Given the description of an element on the screen output the (x, y) to click on. 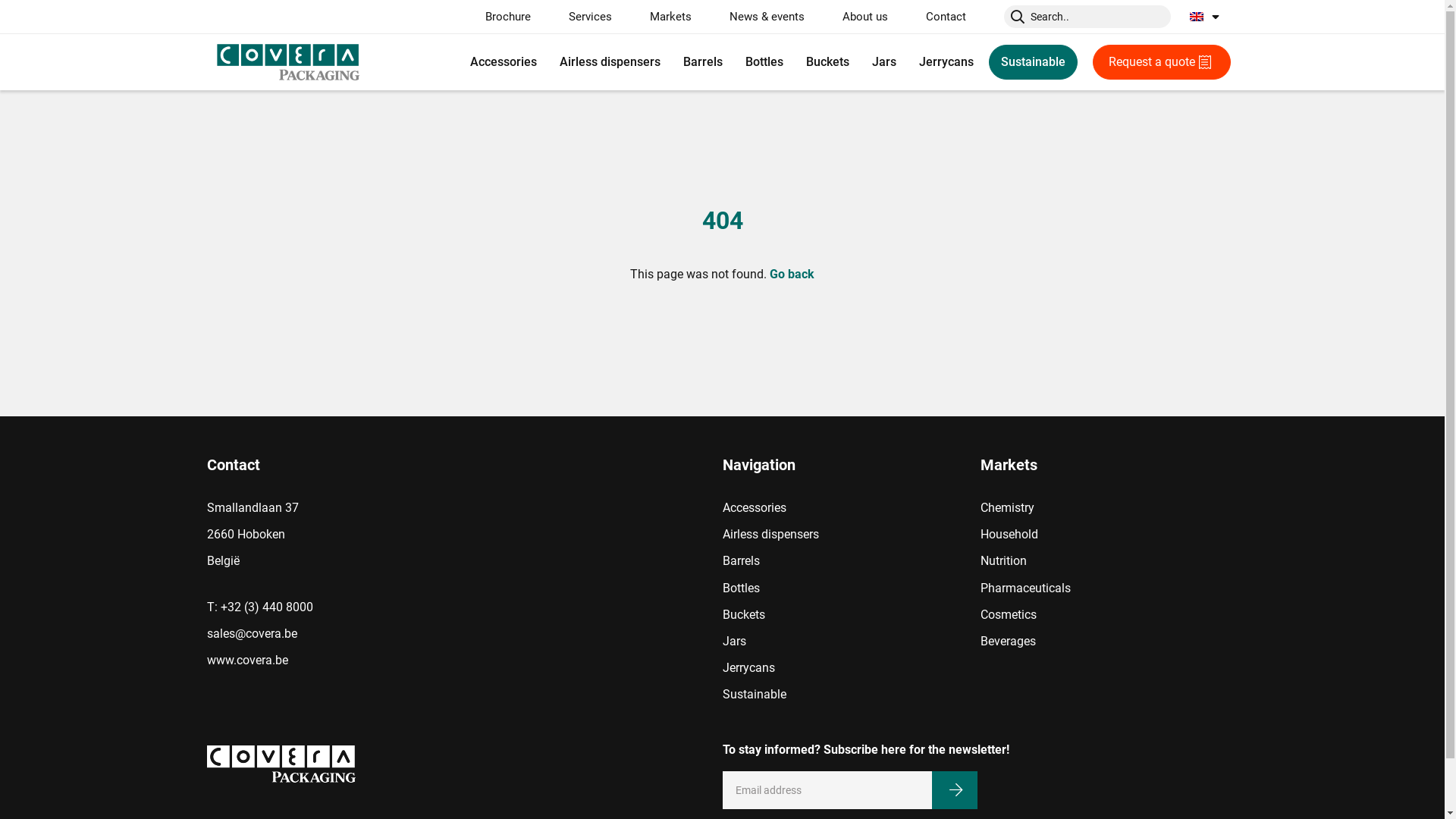
Pharmaceuticals Element type: text (1024, 587)
Jerrycans Element type: text (747, 667)
News & events Element type: text (766, 17)
Chemistry Element type: text (1006, 507)
Accessories Element type: text (502, 61)
Nutrition Element type: text (1002, 560)
About us Element type: text (864, 17)
Brochure Element type: text (507, 17)
Sustainable Element type: text (753, 693)
www.covera.be Element type: text (344, 659)
Go back Element type: text (791, 273)
Buckets Element type: text (827, 61)
Jerrycans Element type: text (945, 61)
Chemistry Element type: text (667, 47)
Household Element type: text (1008, 533)
Accessories Element type: text (753, 507)
Beverages Element type: text (1007, 640)
Bottles Element type: text (764, 61)
Services Element type: text (589, 17)
Nutrition Element type: text (663, 47)
Pagina niet gevonden - Covera Packaging Element type: hover (463, 763)
Pagina niet gevonden - Covera Packaging Element type: hover (286, 61)
Jars Element type: text (882, 61)
Request a quote Element type: text (1161, 61)
Airless dispensers Element type: text (609, 61)
Pharmaceuticals Element type: text (683, 47)
Barrels Element type: text (740, 560)
sales@covera.be Element type: text (344, 633)
Buckets Element type: text (742, 614)
T: +32 (3) 440 8000 Element type: text (344, 606)
Cosmetics Element type: text (1007, 614)
Airless dispensers Element type: text (769, 533)
Contact Element type: text (945, 17)
Jars Element type: text (733, 640)
Barrels Element type: text (702, 61)
Beverages Element type: text (667, 47)
Bottles Element type: text (740, 587)
Cosmetics Element type: text (668, 47)
Sustainable Element type: text (1033, 61)
Markets Element type: text (669, 17)
